Given the description of an element on the screen output the (x, y) to click on. 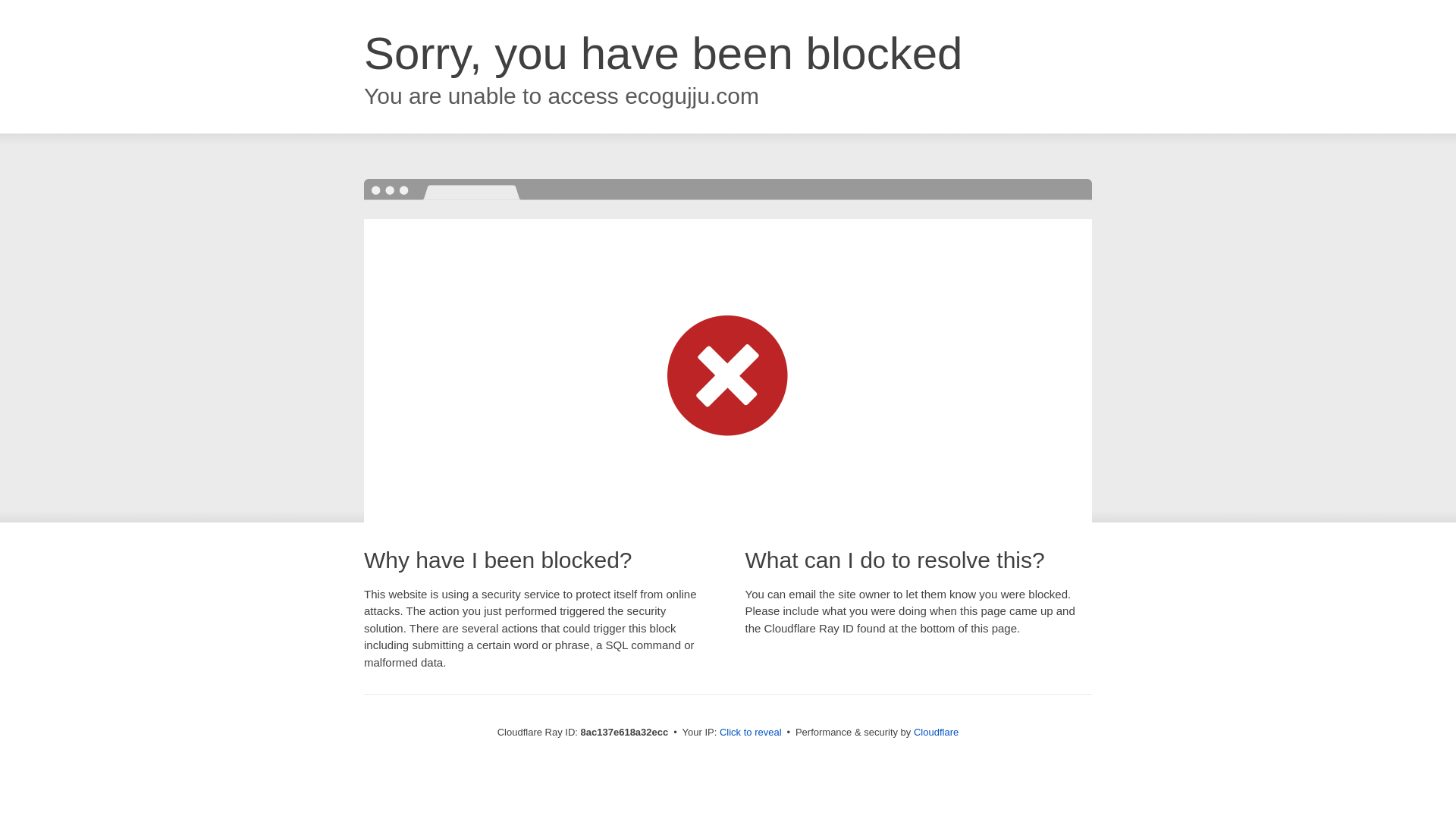
Click to reveal (750, 732)
Cloudflare (936, 731)
